Given the description of an element on the screen output the (x, y) to click on. 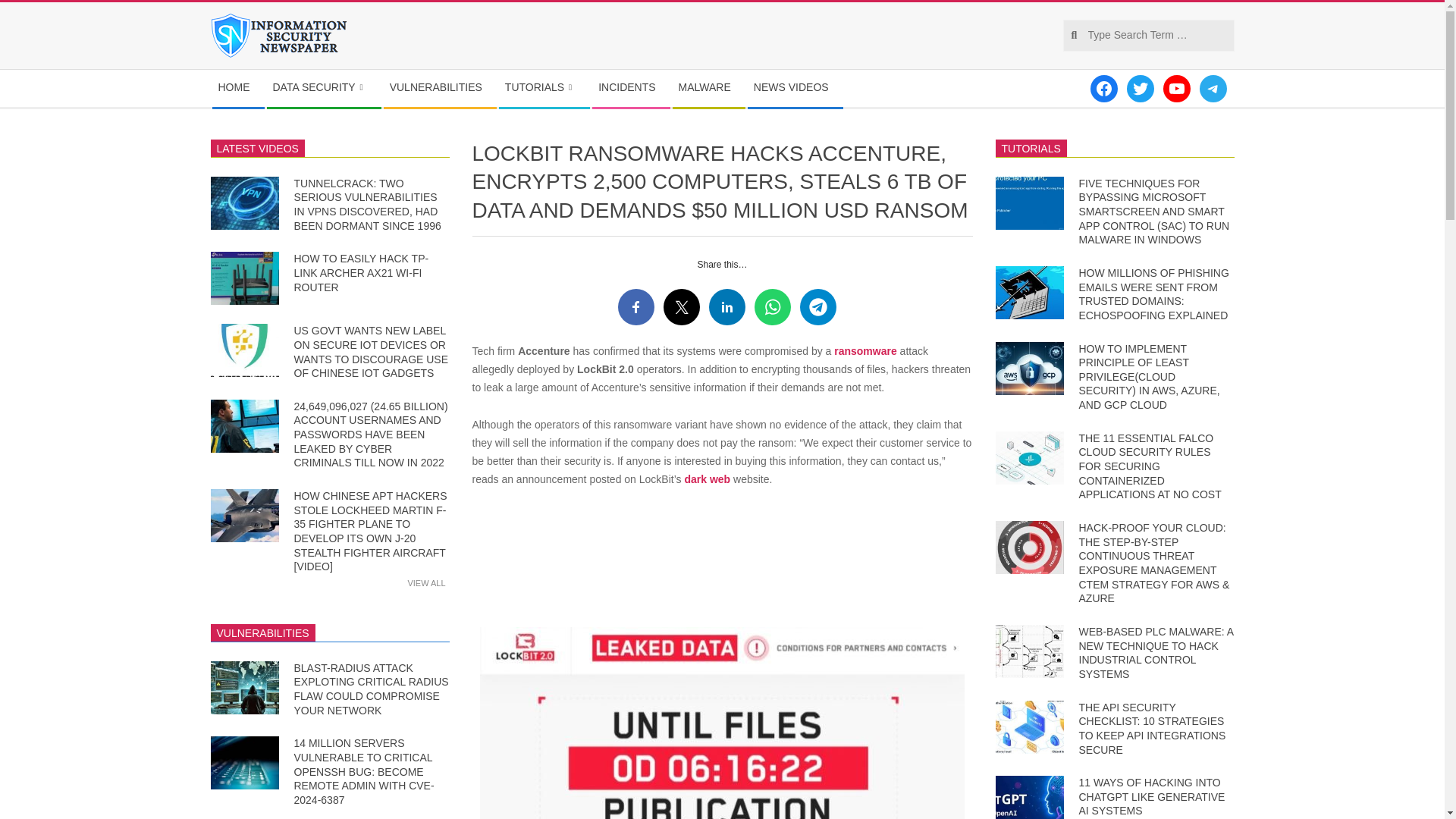
VULNERABILITIES (439, 88)
HOME (237, 88)
DATA SECURITY (322, 88)
TUTORIALS (544, 88)
